Given the description of an element on the screen output the (x, y) to click on. 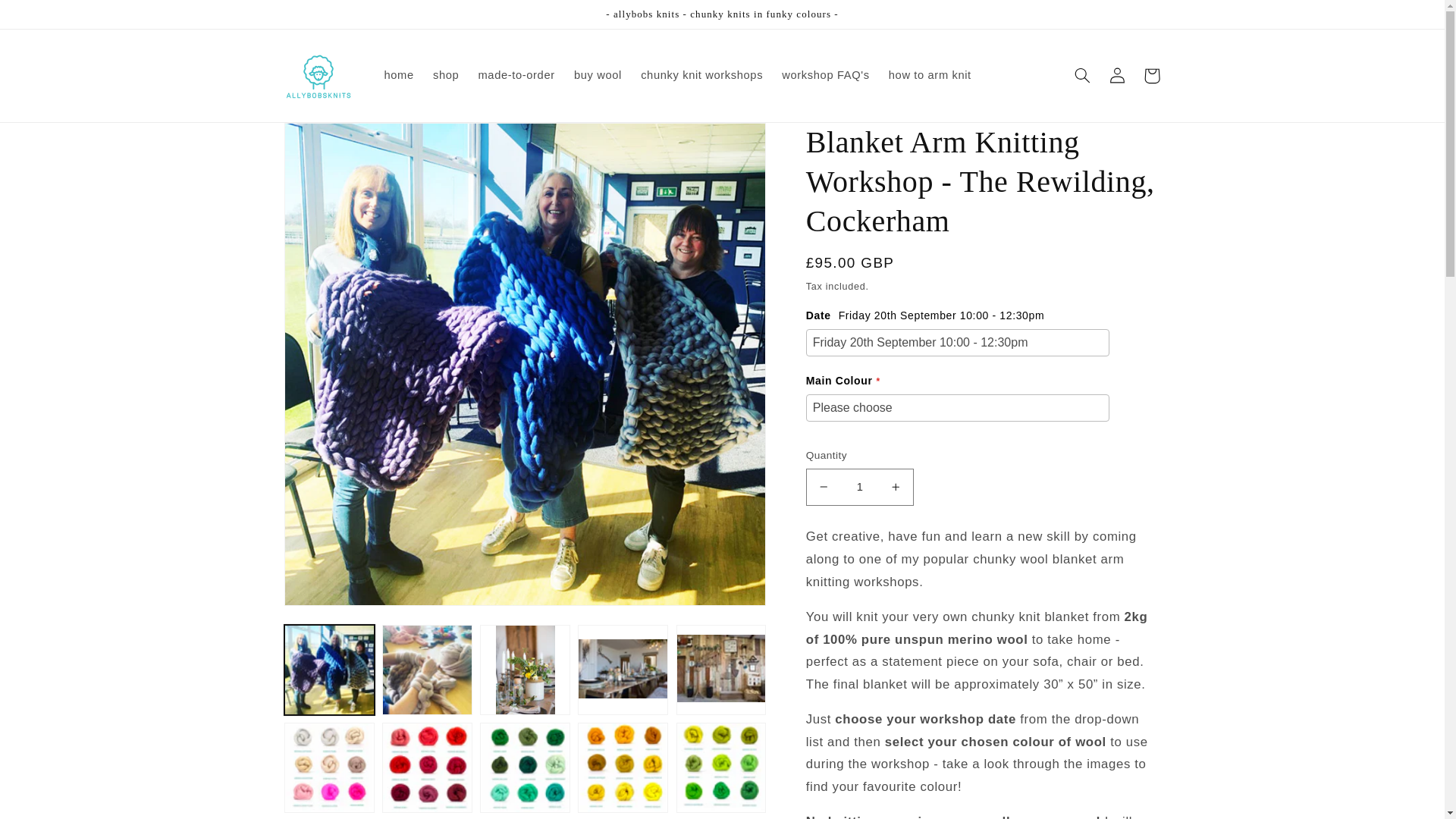
made-to-order (516, 75)
Cart (1151, 75)
buy wool (597, 75)
home (398, 75)
Skip to content (48, 18)
Log in (1116, 75)
shop (445, 75)
chunky knit workshops (702, 75)
how to arm knit (929, 75)
workshop FAQ's (826, 75)
Skip to product information (331, 140)
Page 2 (983, 672)
1 (860, 487)
